Given the description of an element on the screen output the (x, y) to click on. 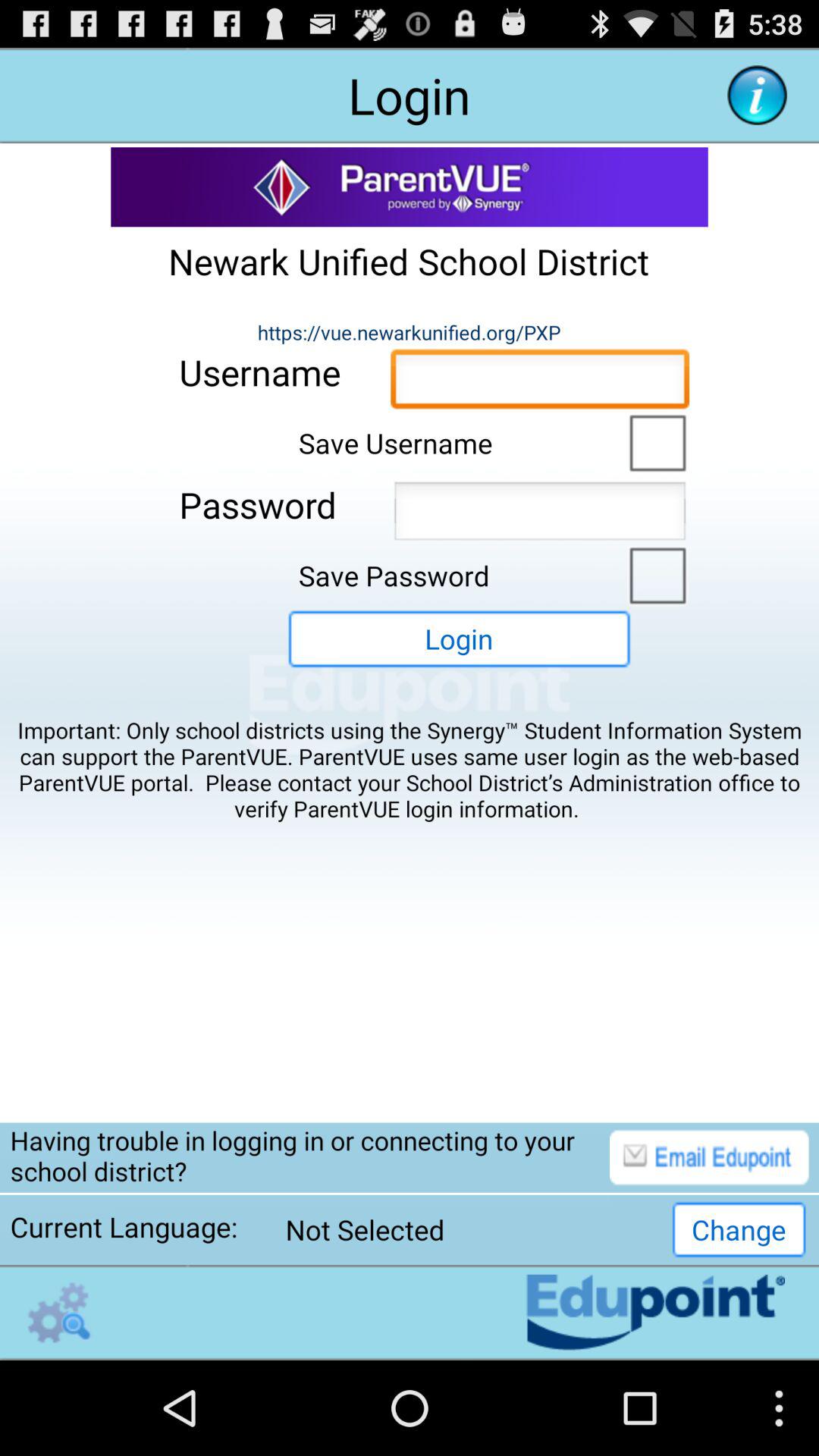
open the settings (59, 1312)
